Given the description of an element on the screen output the (x, y) to click on. 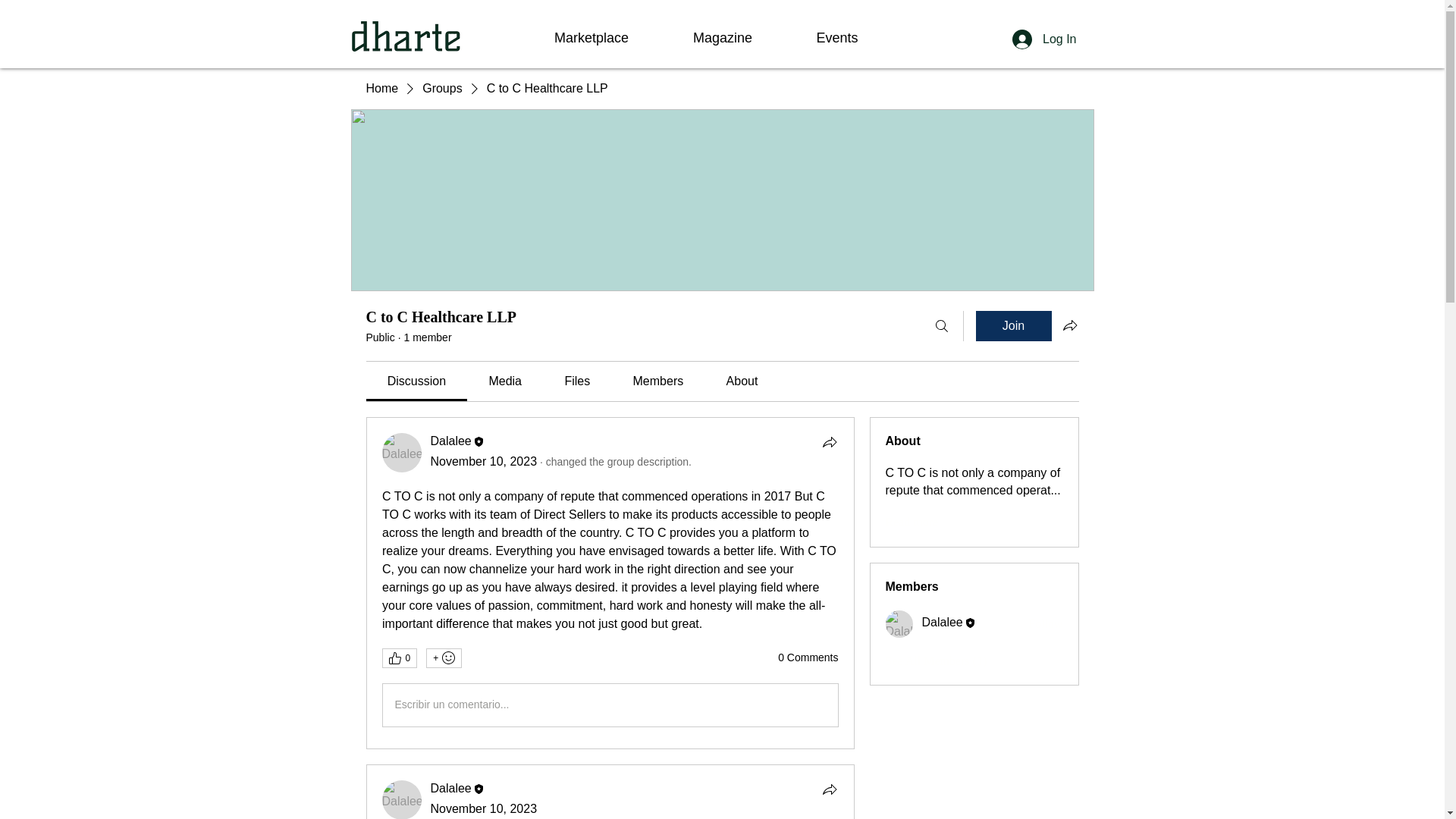
Dalalee (898, 624)
Dalalee (941, 622)
Join (1013, 326)
0 Comments (807, 657)
Events (836, 38)
Magazine (722, 38)
Escribir un comentario... (609, 704)
Marketplace (591, 38)
Groups (441, 88)
Dalalee (450, 788)
